Given the description of an element on the screen output the (x, y) to click on. 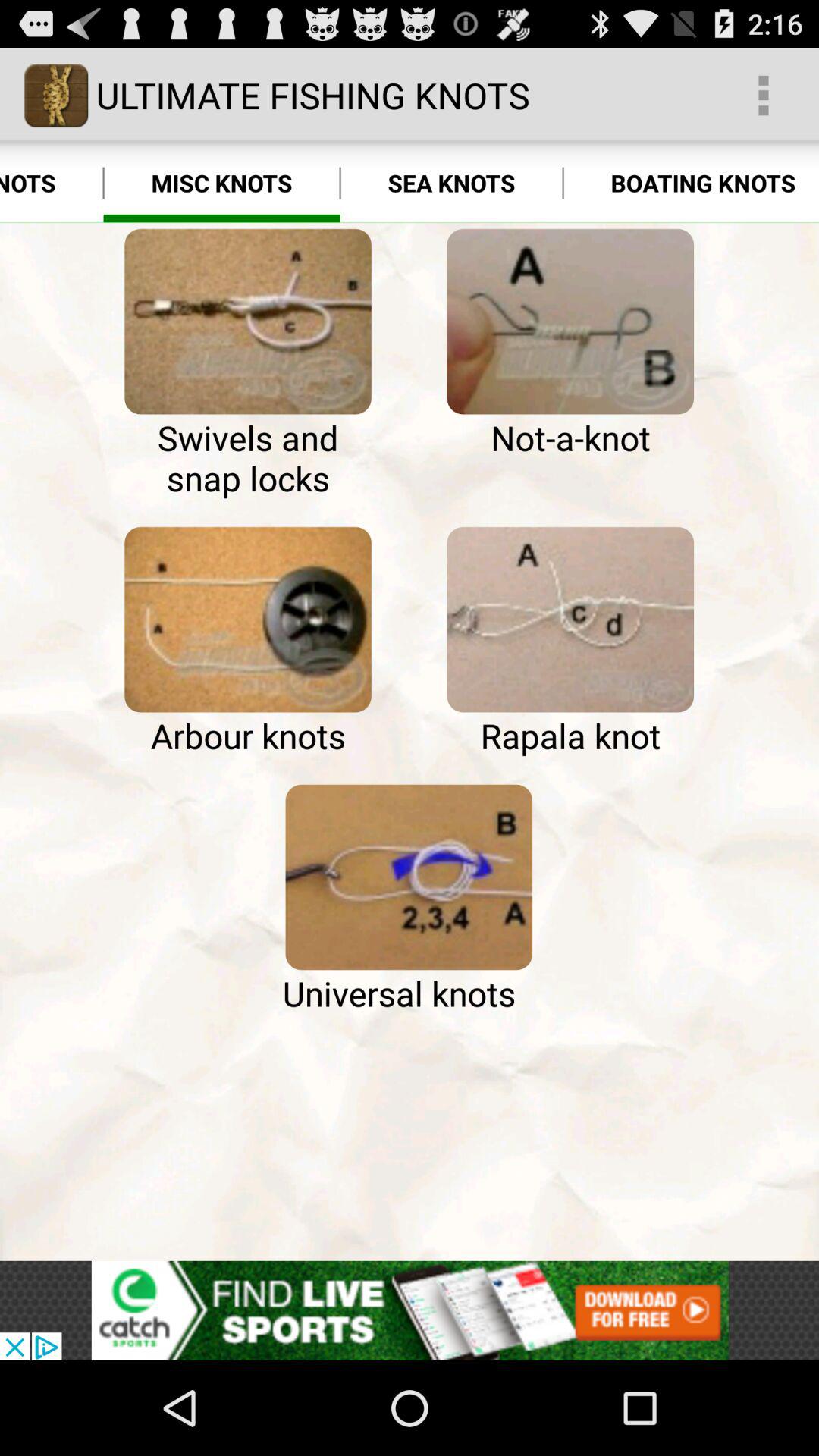
swivels and snap locks details (247, 321)
